Given the description of an element on the screen output the (x, y) to click on. 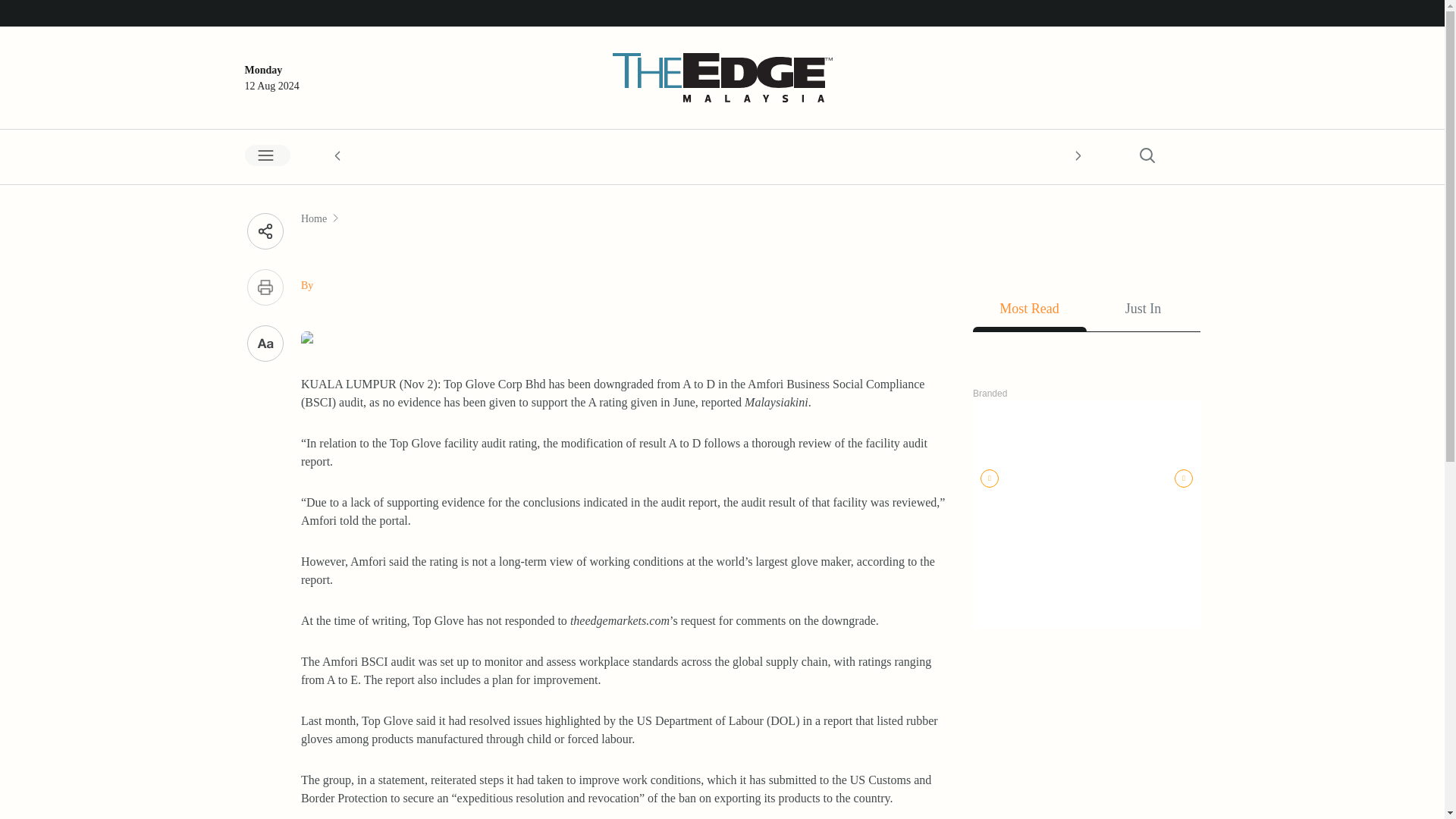
Most Read (1029, 312)
Home (313, 218)
Just In (1142, 312)
